Given the description of an element on the screen output the (x, y) to click on. 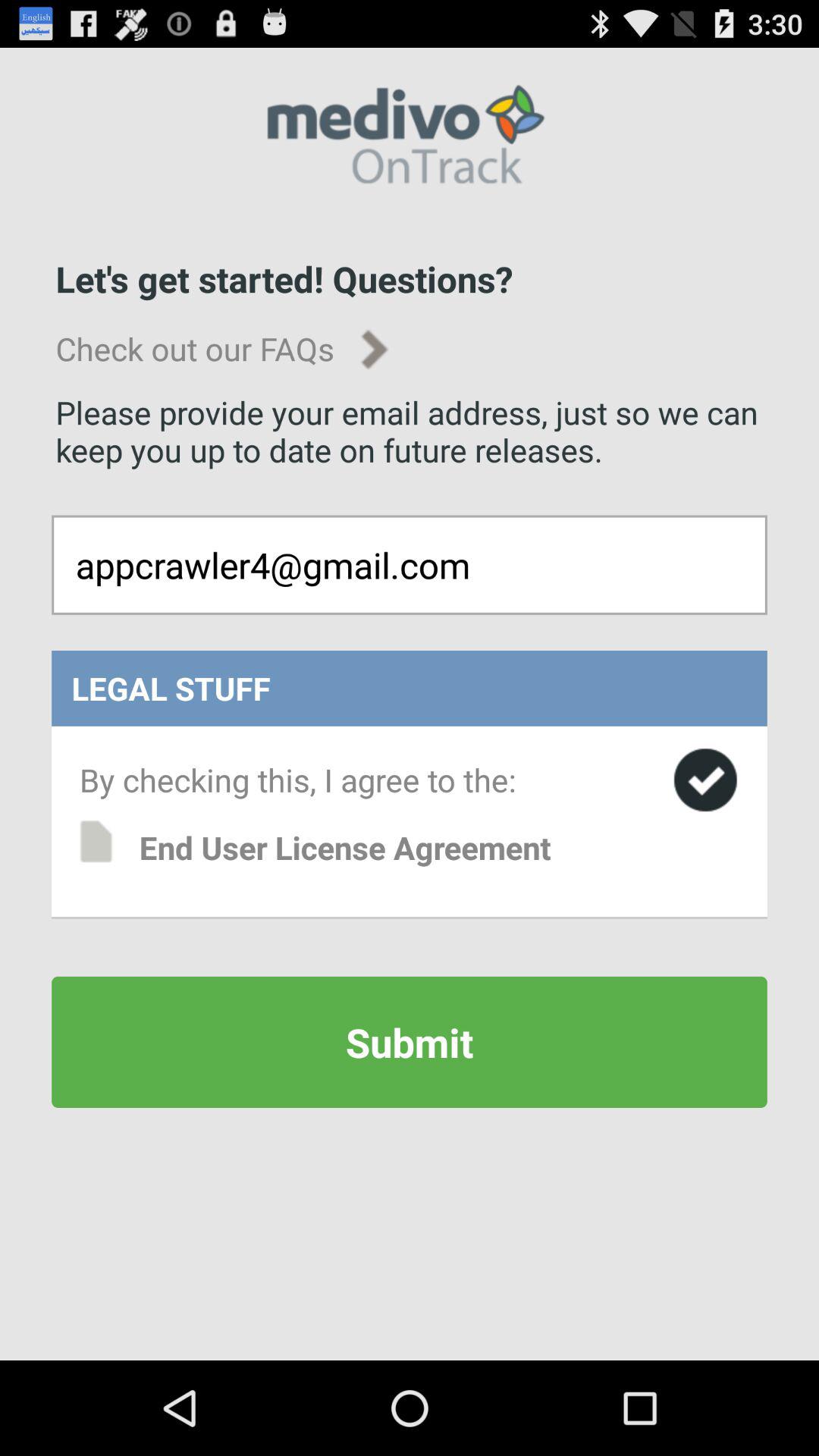
agree to terms (705, 779)
